Given the description of an element on the screen output the (x, y) to click on. 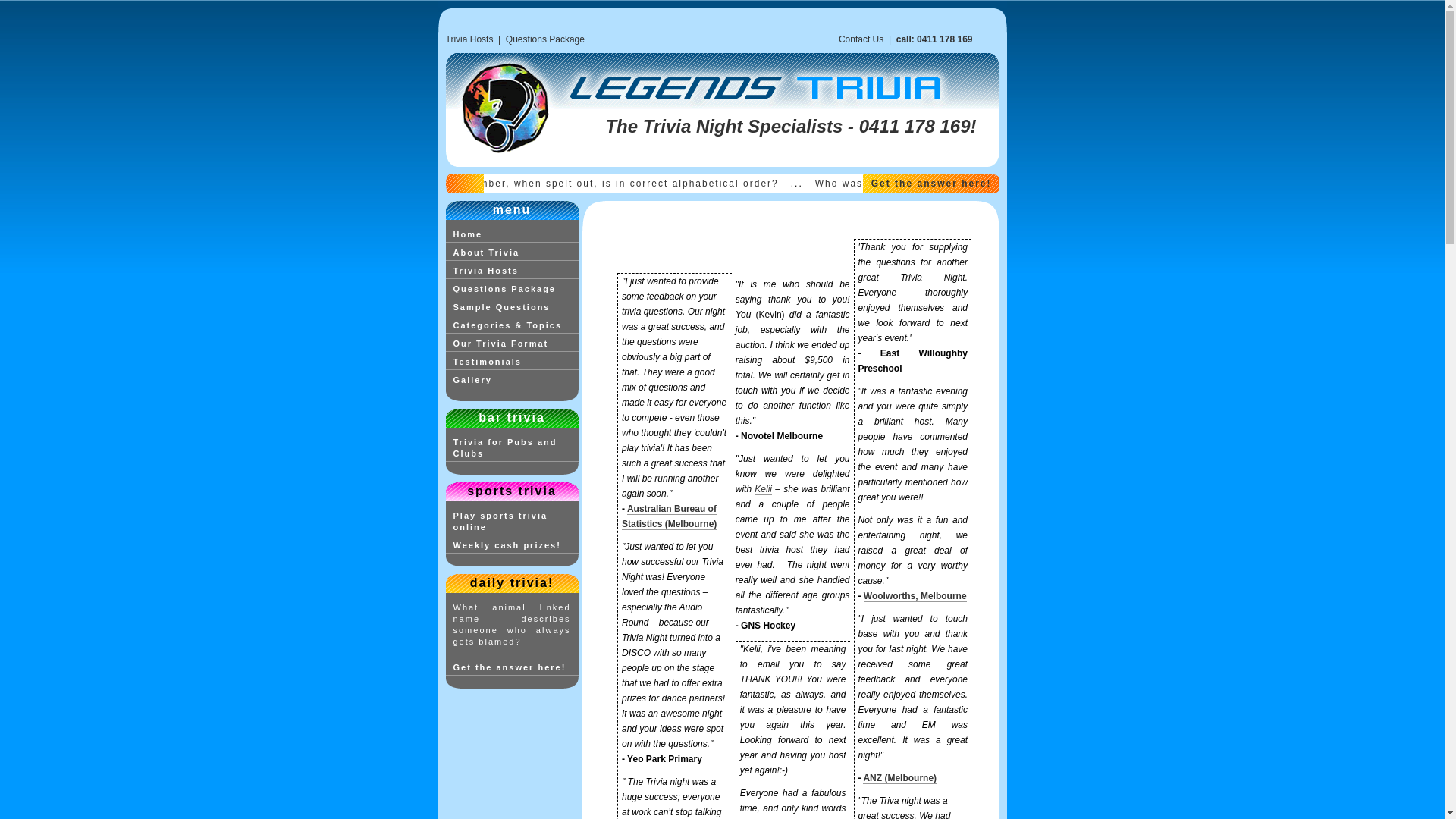
Get the answer here! Element type: text (511, 667)
11 178 169! Element type: text (926, 126)
Get the answer here! Element type: text (931, 183)
Our Trivia Format Element type: text (511, 343)
Gallery Element type: text (511, 380)
The Trivia Night Specialists - 04 Element type: text (741, 126)
Home Element type: text (511, 234)
Sample Questions Element type: text (511, 307)
Contact Us Element type: text (860, 39)
Weekly cash prizes! Element type: text (511, 545)
ANZ (Melbourne) Element type: text (899, 778)
Play sports trivia online Element type: text (511, 521)
Testimonials Element type: text (511, 362)
Trivia for Pubs and Clubs Element type: text (511, 448)
About Trivia Element type: text (511, 252)
Who was the first Non-Englishman to play James Bond? Element type: text (1011, 183)
Trivia Hosts Element type: text (511, 271)
Categories & Topics Element type: text (511, 325)
Australian Bureau of Statistics (Melbourne) Element type: text (668, 516)
Questions Package Element type: text (544, 39)
Kelii Element type: text (762, 489)
Questions Package Element type: text (511, 289)
Woolworths, Melbourne Element type: text (914, 596)
Trivia Hosts Element type: text (469, 39)
